Given the description of an element on the screen output the (x, y) to click on. 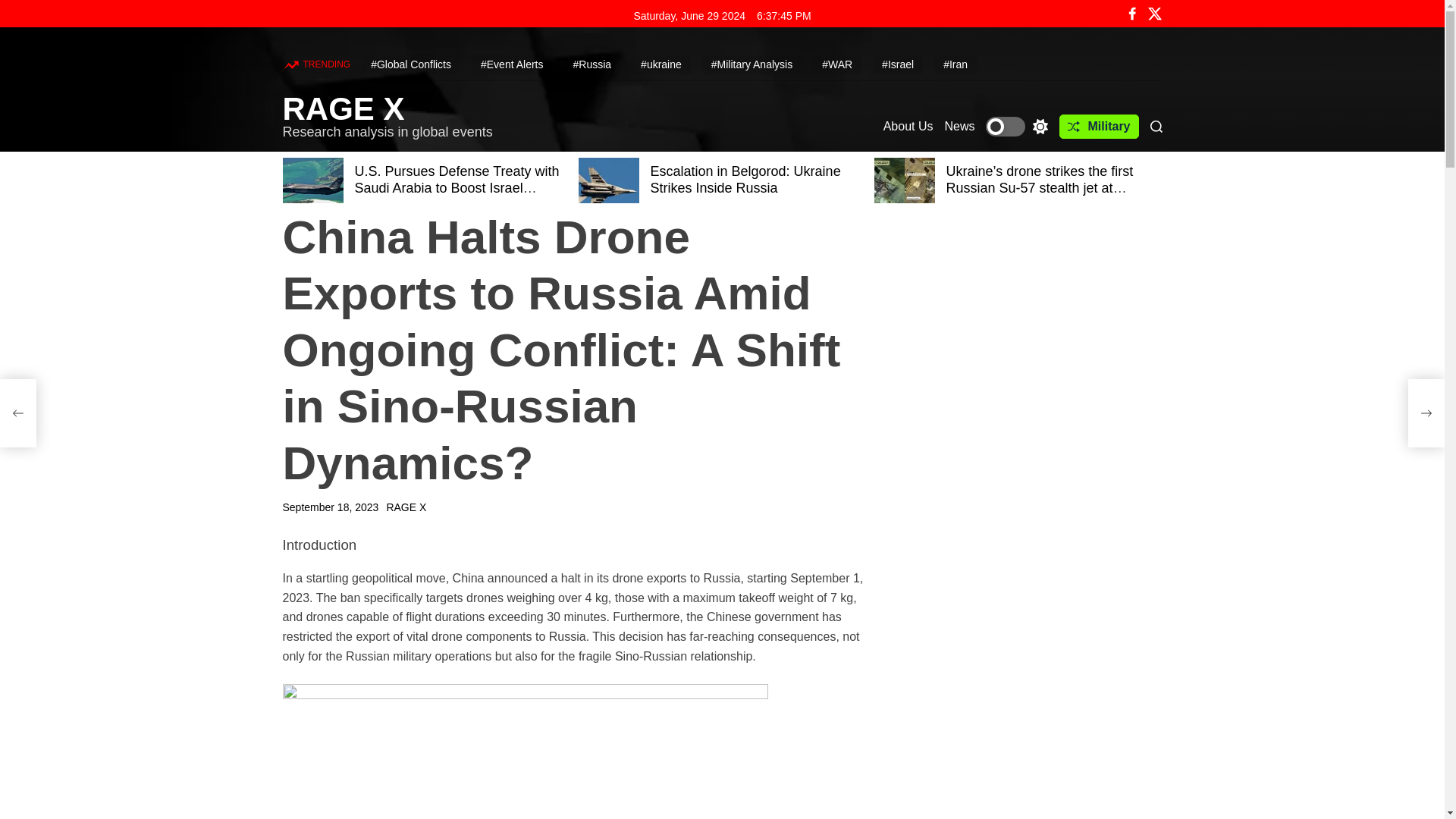
News (958, 125)
About Us (908, 125)
Military (1098, 126)
RAGE X (405, 507)
RAGE X (387, 109)
Escalation in Belgorod: Ukraine Strikes Inside Russia (745, 179)
September 18, 2023 (330, 506)
